Given the description of an element on the screen output the (x, y) to click on. 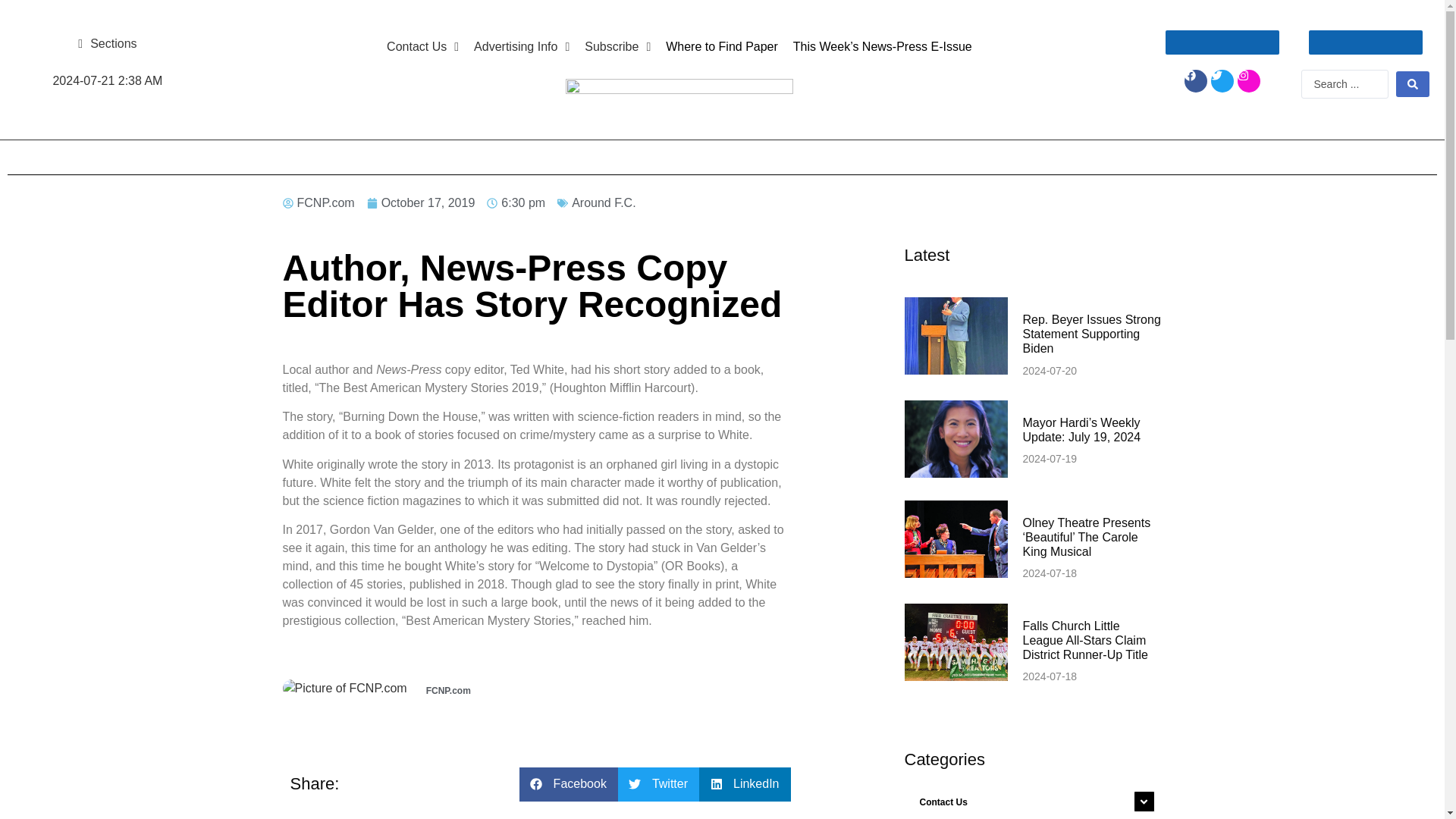
Subscribe (617, 46)
FCNP.com (317, 203)
Contact Us (421, 46)
October 17, 2019 (421, 203)
Advertising Info (520, 46)
Contact Us (1032, 800)
Around F.C. (603, 202)
Where to Find Paper (722, 46)
Rep. Beyer Issues Strong Statement Supporting Biden (1091, 333)
